Given the description of an element on the screen output the (x, y) to click on. 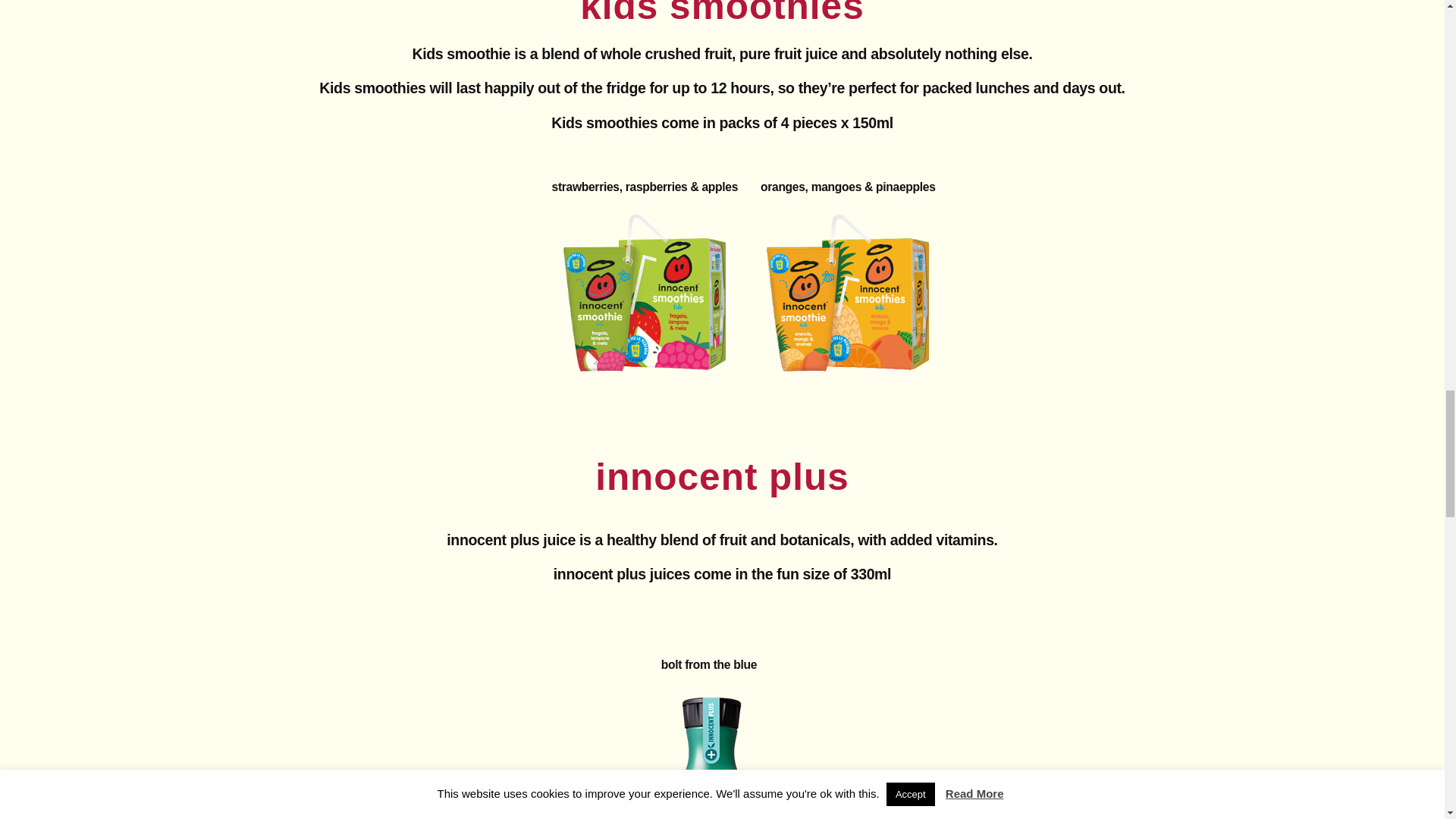
bolt from the blue (707, 756)
